Given the description of an element on the screen output the (x, y) to click on. 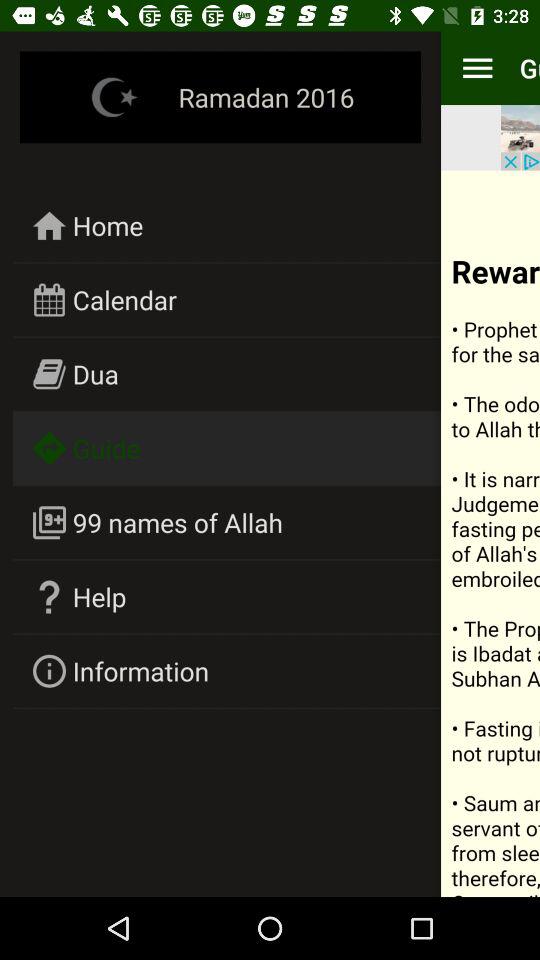
turn off the item to the right of ramadan 2016 icon (520, 137)
